Given the description of an element on the screen output the (x, y) to click on. 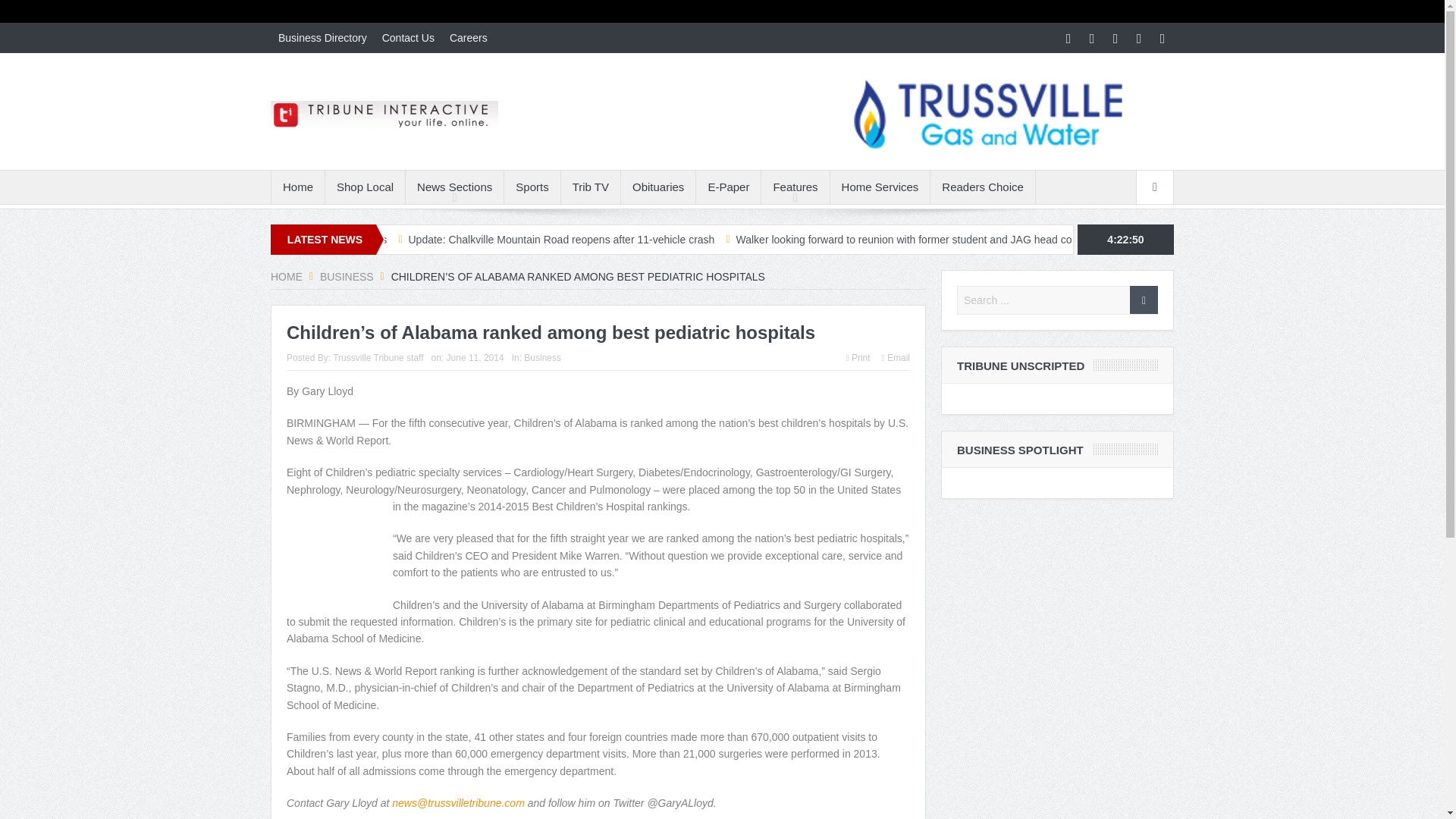
E-Paper (727, 186)
Business (347, 276)
Features (794, 186)
Business Directory (322, 37)
Contact Us (408, 37)
Home Services (879, 186)
Obituaries (658, 186)
News Sections (454, 186)
Readers Choice (982, 186)
Trib TV (590, 186)
